Given the description of an element on the screen output the (x, y) to click on. 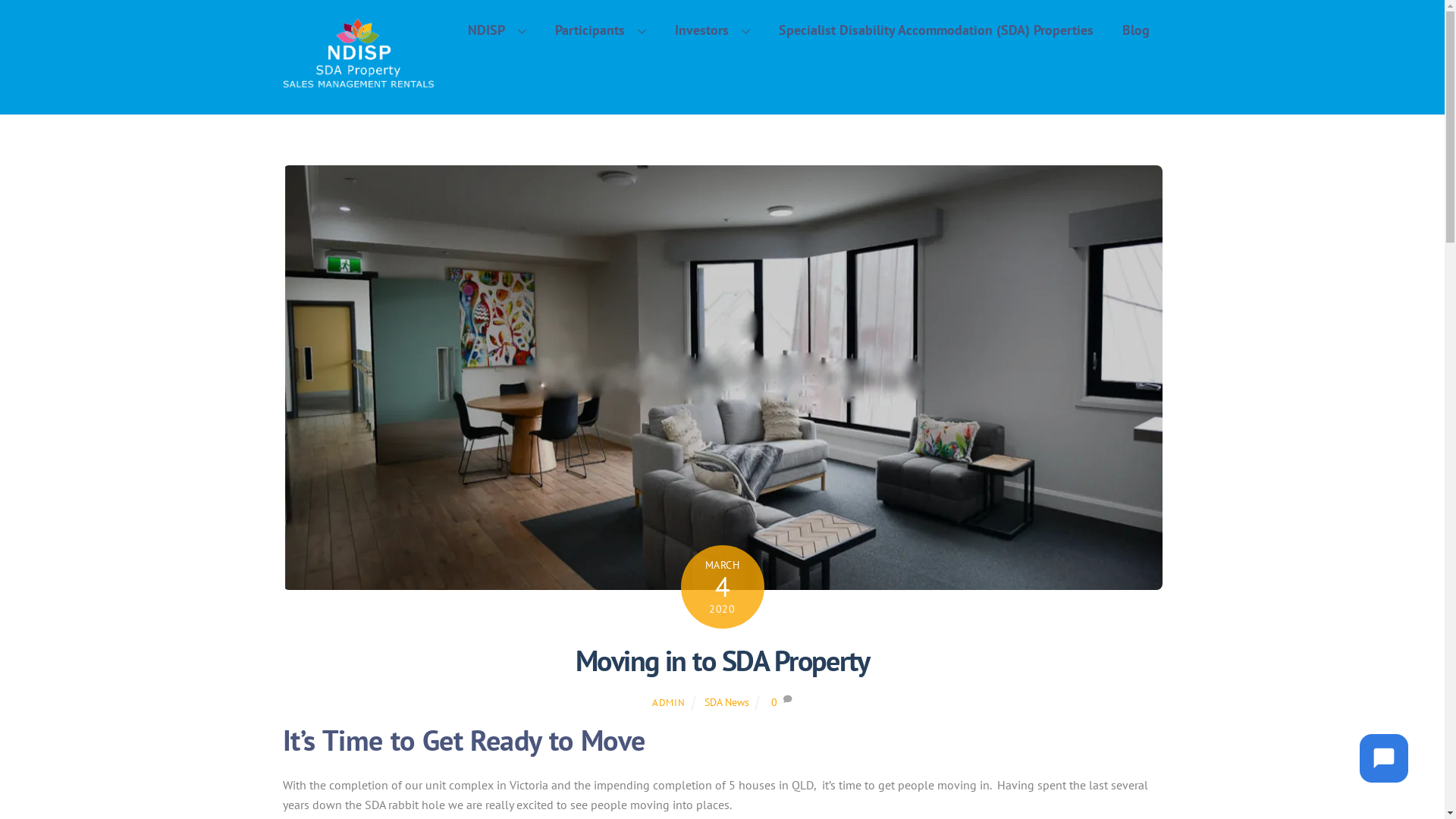
Moving in to SDA Property Element type: text (722, 660)
NDISP Element type: text (497, 30)
0 Element type: text (774, 701)
Investors Element type: text (712, 30)
NDISP Element type: hover (357, 81)
Participants Element type: text (600, 30)
ADMIN Element type: text (668, 702)
Specialist Disability Accommodation (SDA) Properties Element type: text (935, 30)
Chatbot Element type: hover (1383, 757)
NDISP-Logo-White-Letters Element type: hover (357, 53)
Vic units (1) Element type: hover (721, 377)
SDA News Element type: text (726, 701)
Blog Element type: text (1135, 30)
